Given the description of an element on the screen output the (x, y) to click on. 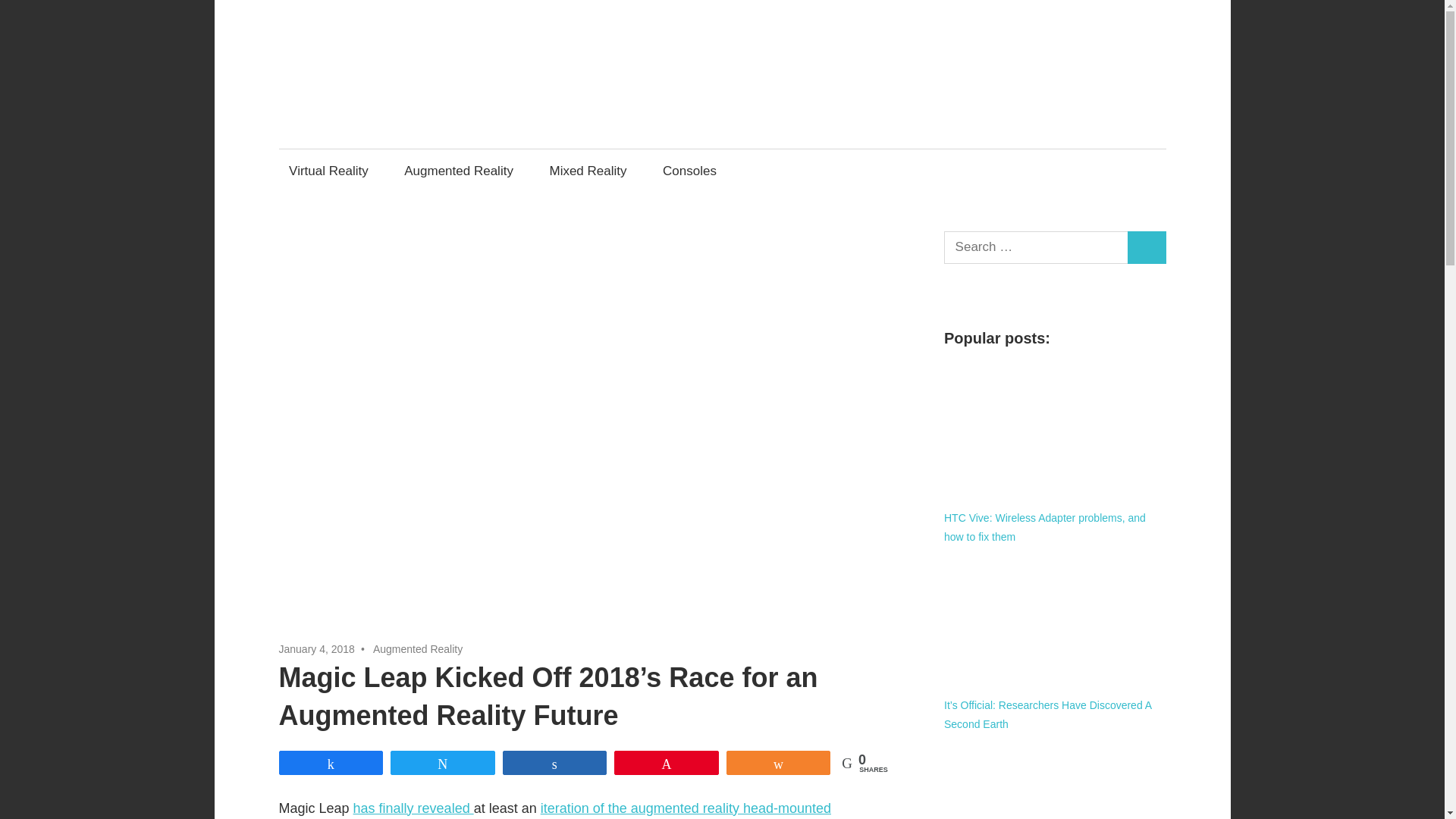
Search for: (1035, 246)
Mixed Reality (587, 170)
Consoles (693, 170)
Augmented Reality (459, 170)
HTC Vive: Wireless Adapter problems, and how to fix them (1054, 431)
19:11 (317, 648)
Search (1146, 246)
Virtual Reality (328, 170)
has finally revealed  (413, 807)
Augmented Reality (417, 648)
HTC Vive: Wireless Adapter problems, and how to fix them (1044, 526)
January 4, 2018 (317, 648)
iteration of the augmented reality head-mounted display (555, 809)
